Given the description of an element on the screen output the (x, y) to click on. 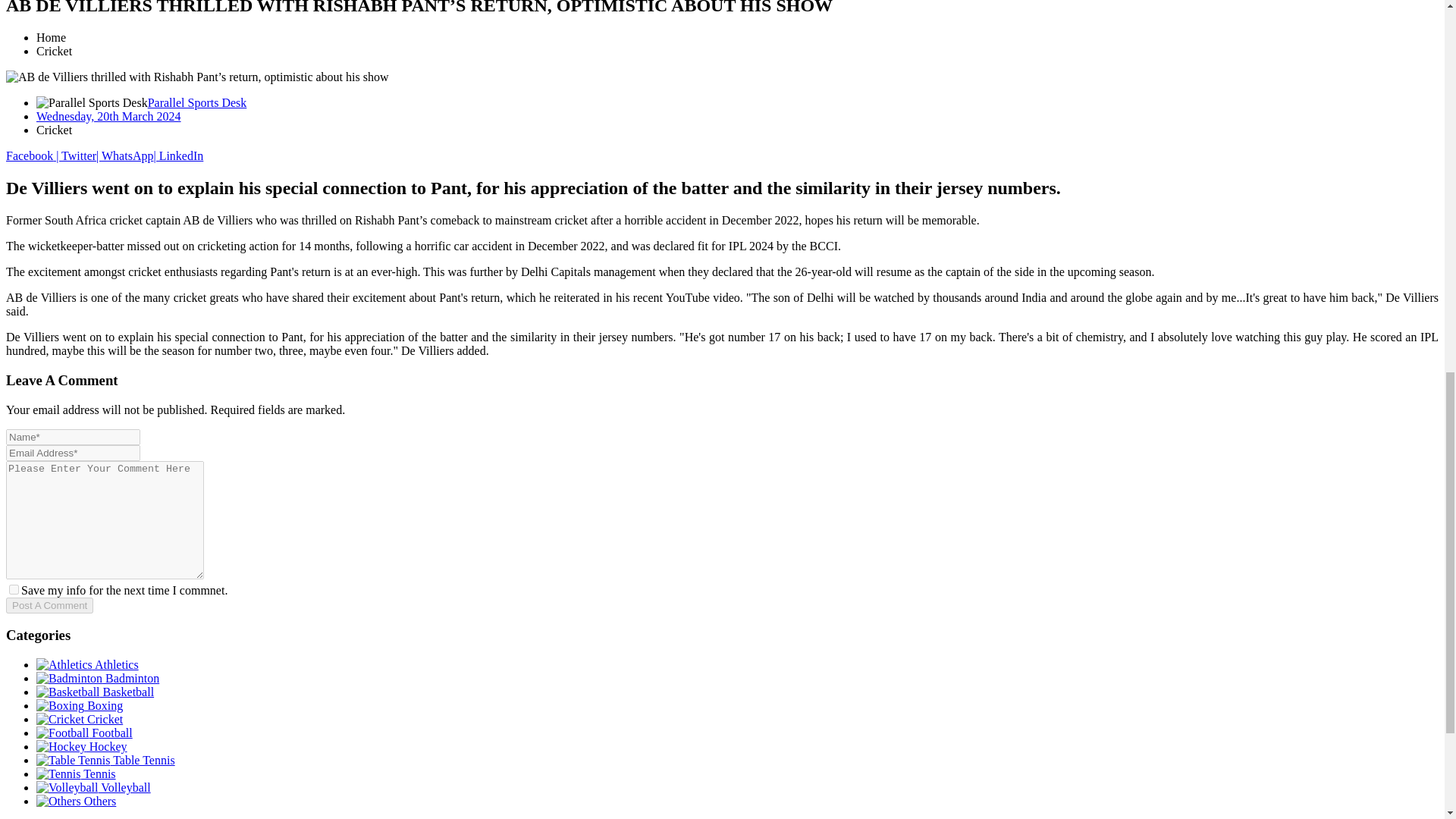
WhatsApp (124, 155)
LinkedIn (177, 155)
on (13, 589)
Facebook (28, 155)
Twitter (74, 155)
